Given the description of an element on the screen output the (x, y) to click on. 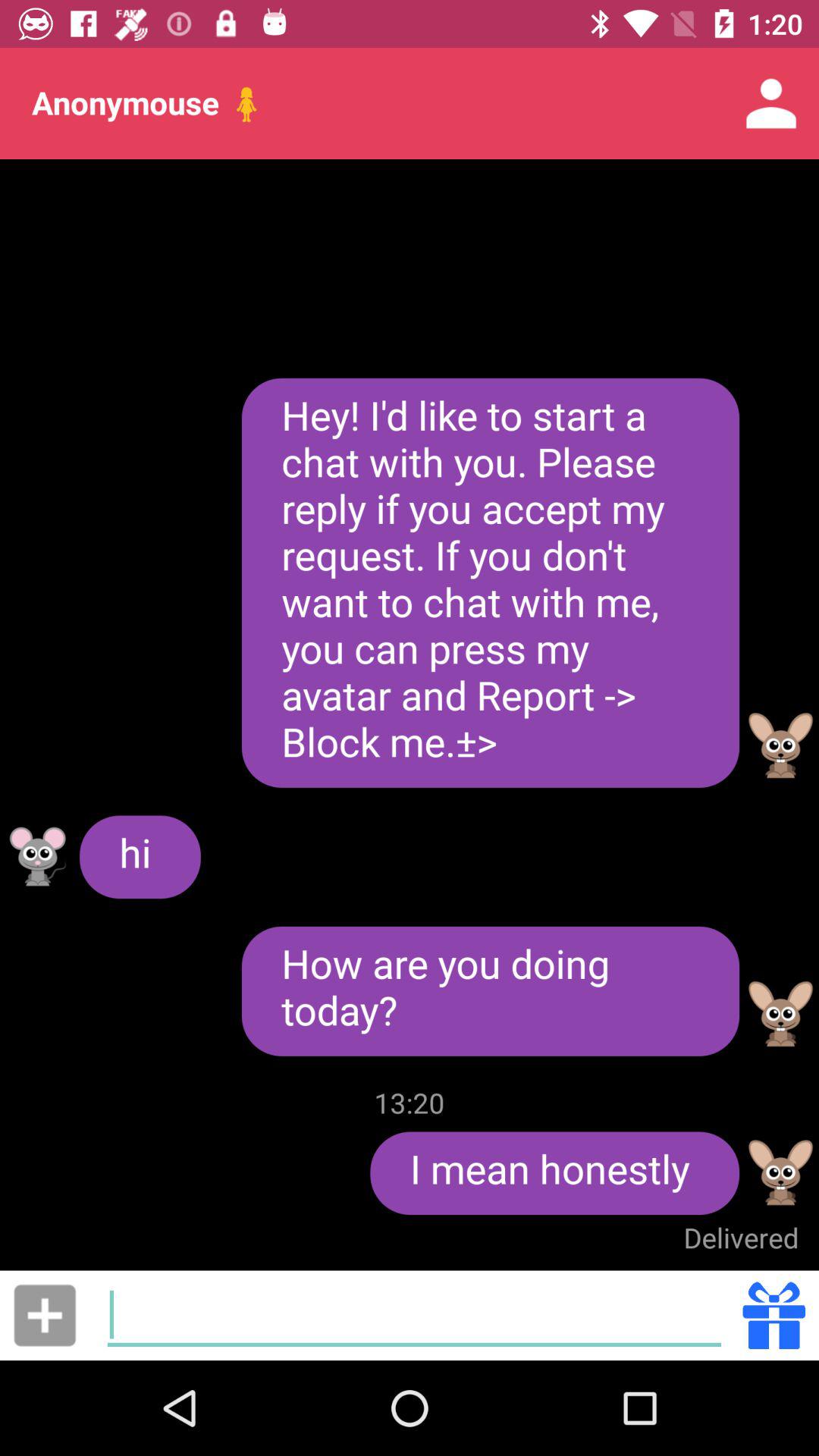
creat message (414, 1315)
